Given the description of an element on the screen output the (x, y) to click on. 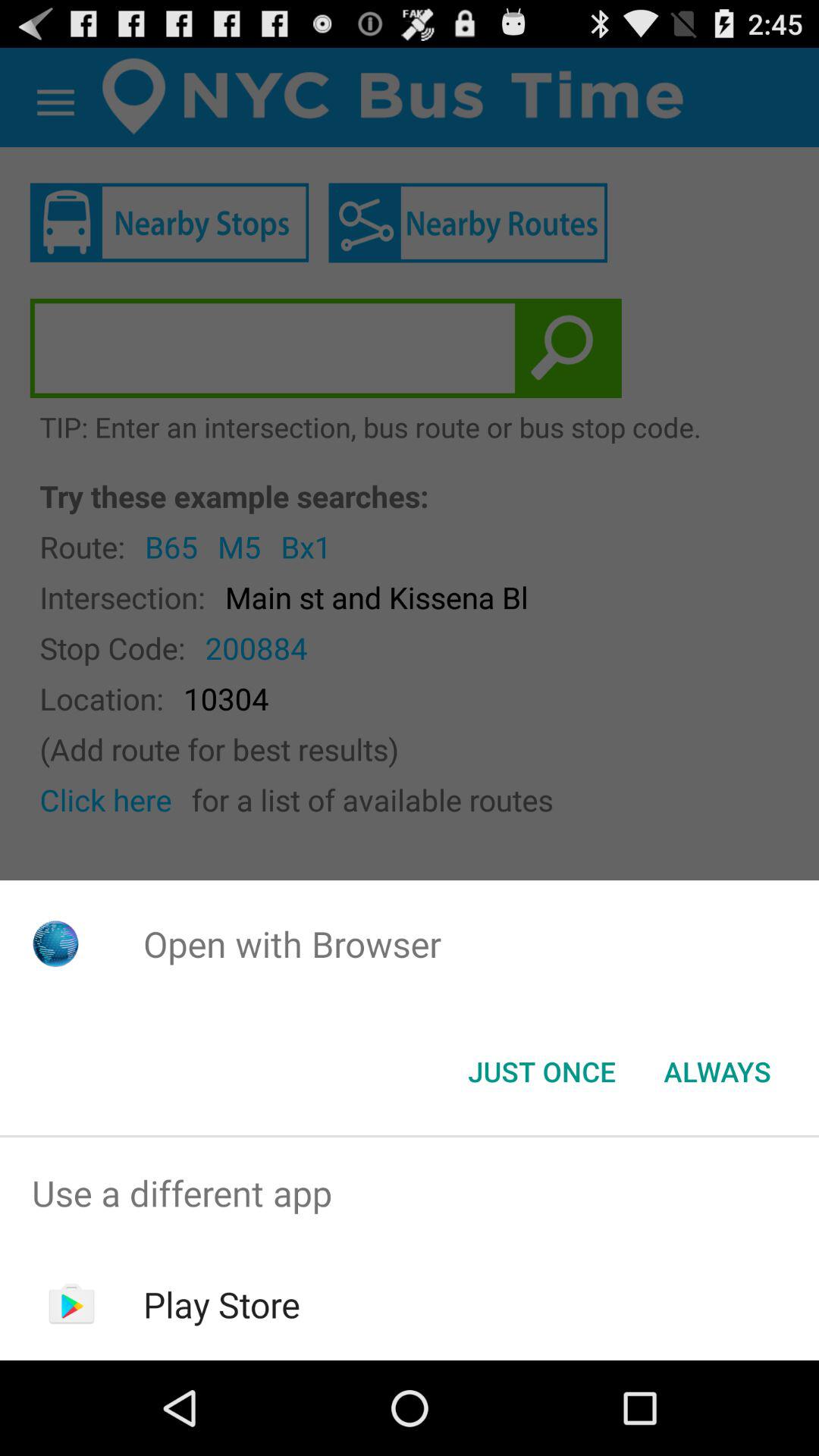
flip until just once button (541, 1071)
